Given the description of an element on the screen output the (x, y) to click on. 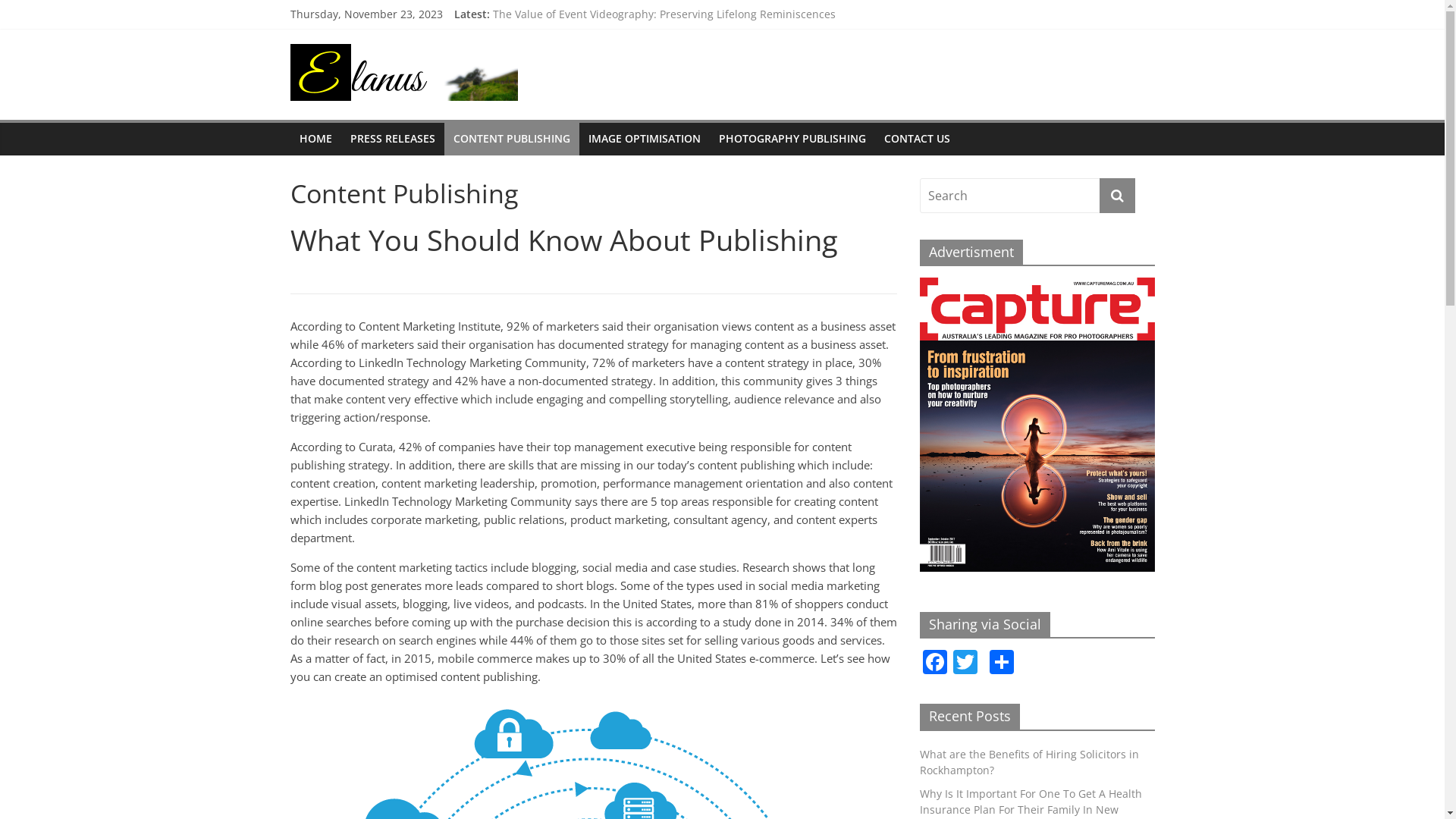
CONTENT PUBLISHING Element type: text (511, 138)
What Makes a Good Business Management Consultant? Element type: text (633, 35)
What are the Benefits of Hiring Solicitors in Rockhampton? Element type: text (640, 52)
Facebook Element type: text (934, 663)
IMAGE OPTIMISATION Element type: text (644, 138)
Twitter Element type: text (964, 663)
Share Element type: text (1000, 663)
HOME Element type: text (314, 138)
What are the Benefits of Hiring Solicitors in Rockhampton? Element type: text (1028, 761)
CONTACT US Element type: text (917, 138)
Finding family lawyers in Gold Coast Element type: text (584, 17)
PRESS RELEASES Element type: text (392, 138)
PHOTOGRAPHY PUBLISHING Element type: text (792, 138)
